Given the description of an element on the screen output the (x, y) to click on. 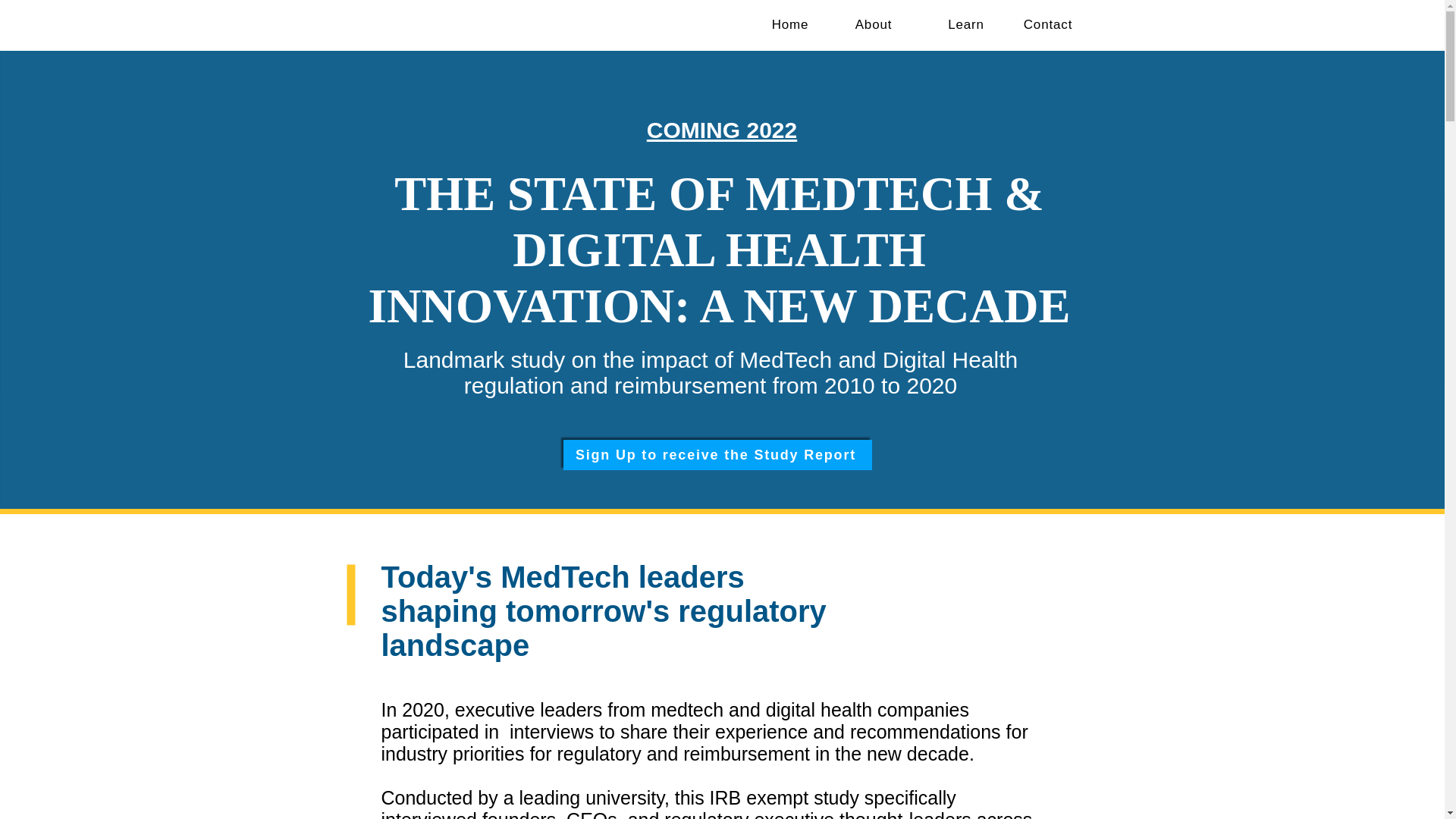
Home (790, 24)
Contact (1048, 24)
Sign Up to receive the Study Report (716, 454)
Learn (965, 24)
About (874, 24)
